Given the description of an element on the screen output the (x, y) to click on. 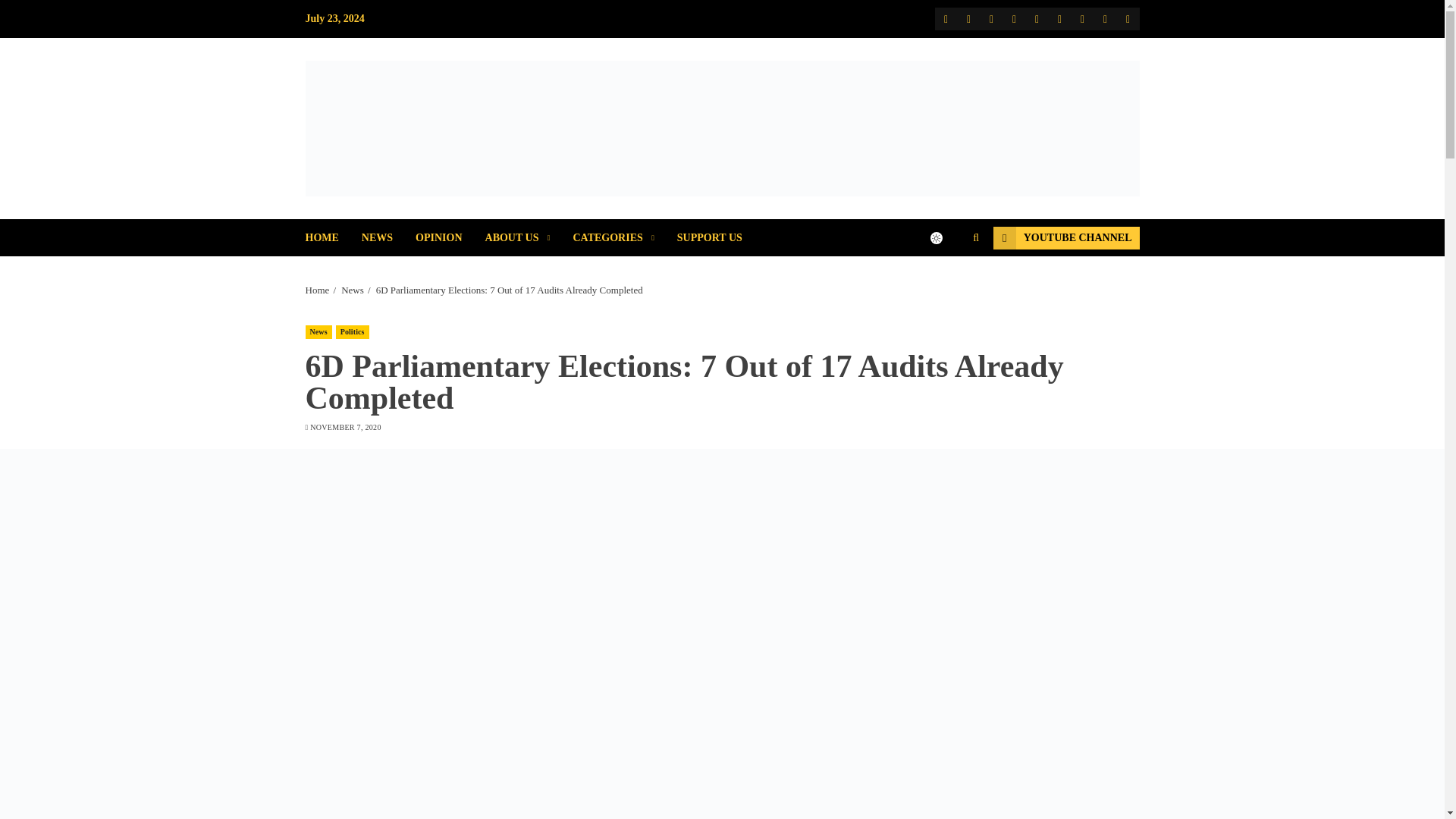
Reddit (1036, 18)
NEWS (387, 237)
Twitter (967, 18)
ABOUT US (528, 237)
IG (1014, 18)
LinkedIn (1104, 18)
TikTok (1081, 18)
FB (945, 18)
Search (975, 237)
YouTube (991, 18)
OPINION (449, 237)
Telegram (1059, 18)
CATEGORIES (624, 237)
WhatsApp (1127, 18)
HOME (332, 237)
